Given the description of an element on the screen output the (x, y) to click on. 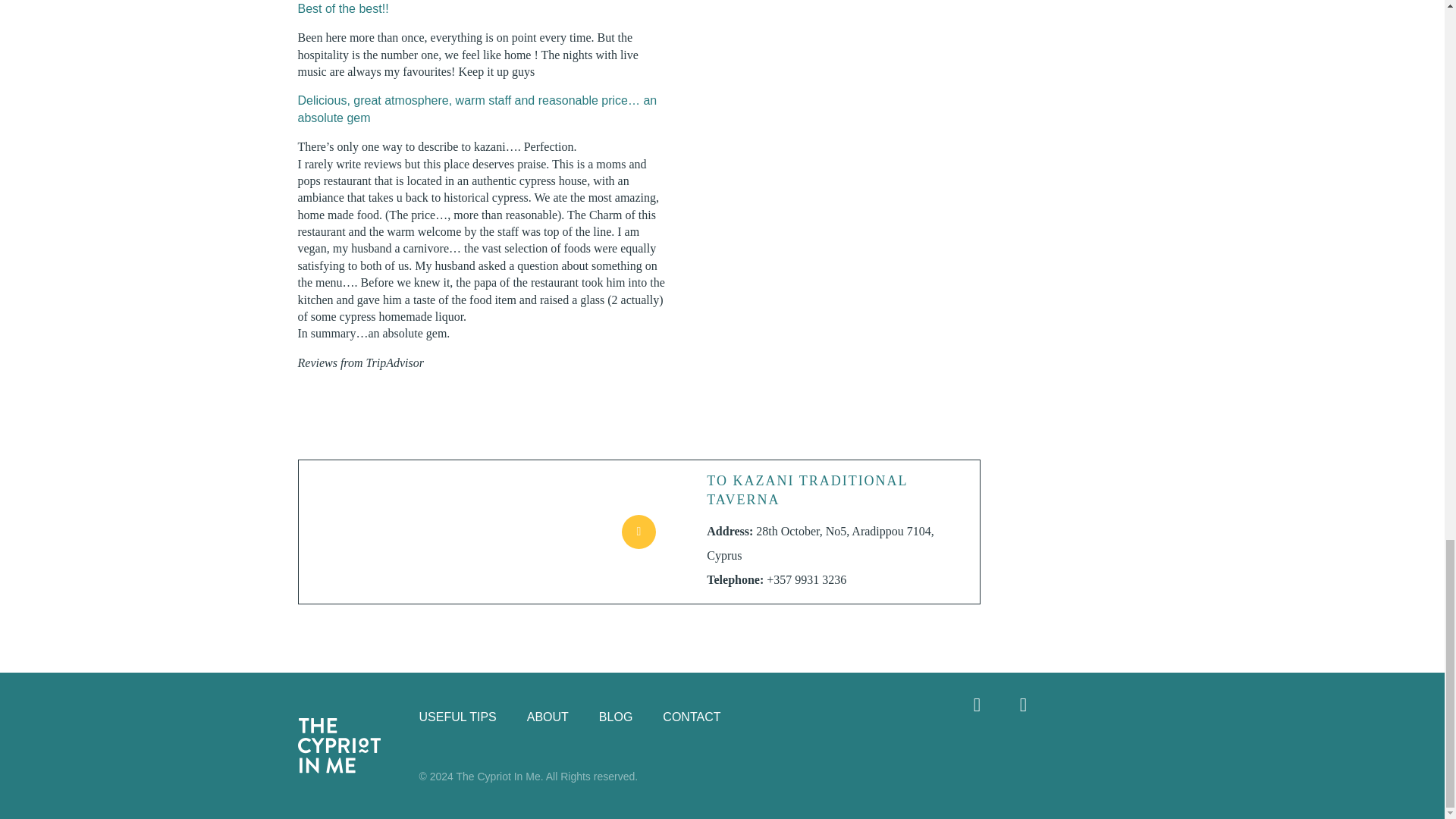
Best of the best!! (342, 8)
